Given the description of an element on the screen output the (x, y) to click on. 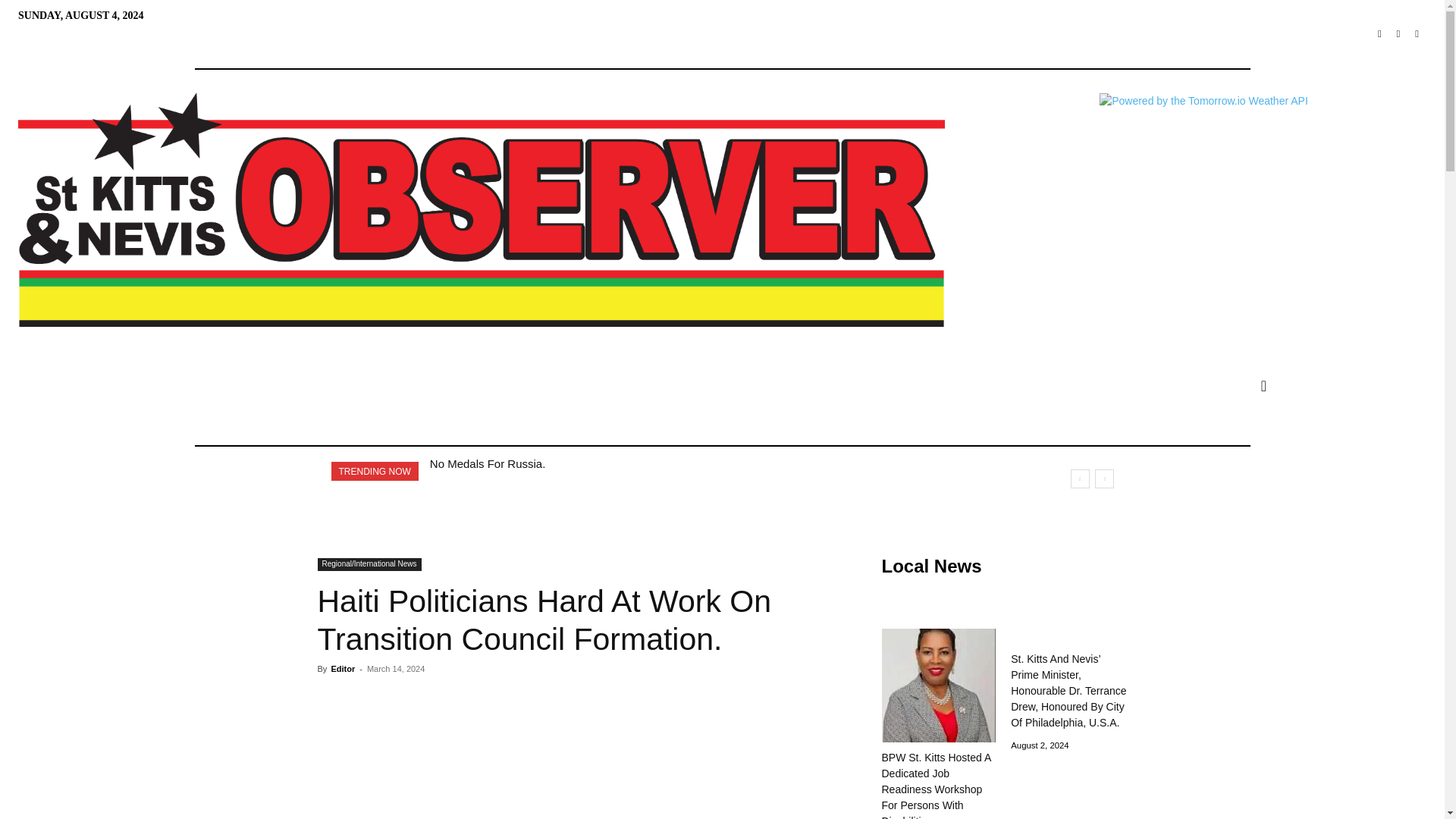
No Medals For Russia. (487, 463)
Twitter (1398, 34)
Facebook (1379, 34)
Youtube (1416, 34)
